Given the description of an element on the screen output the (x, y) to click on. 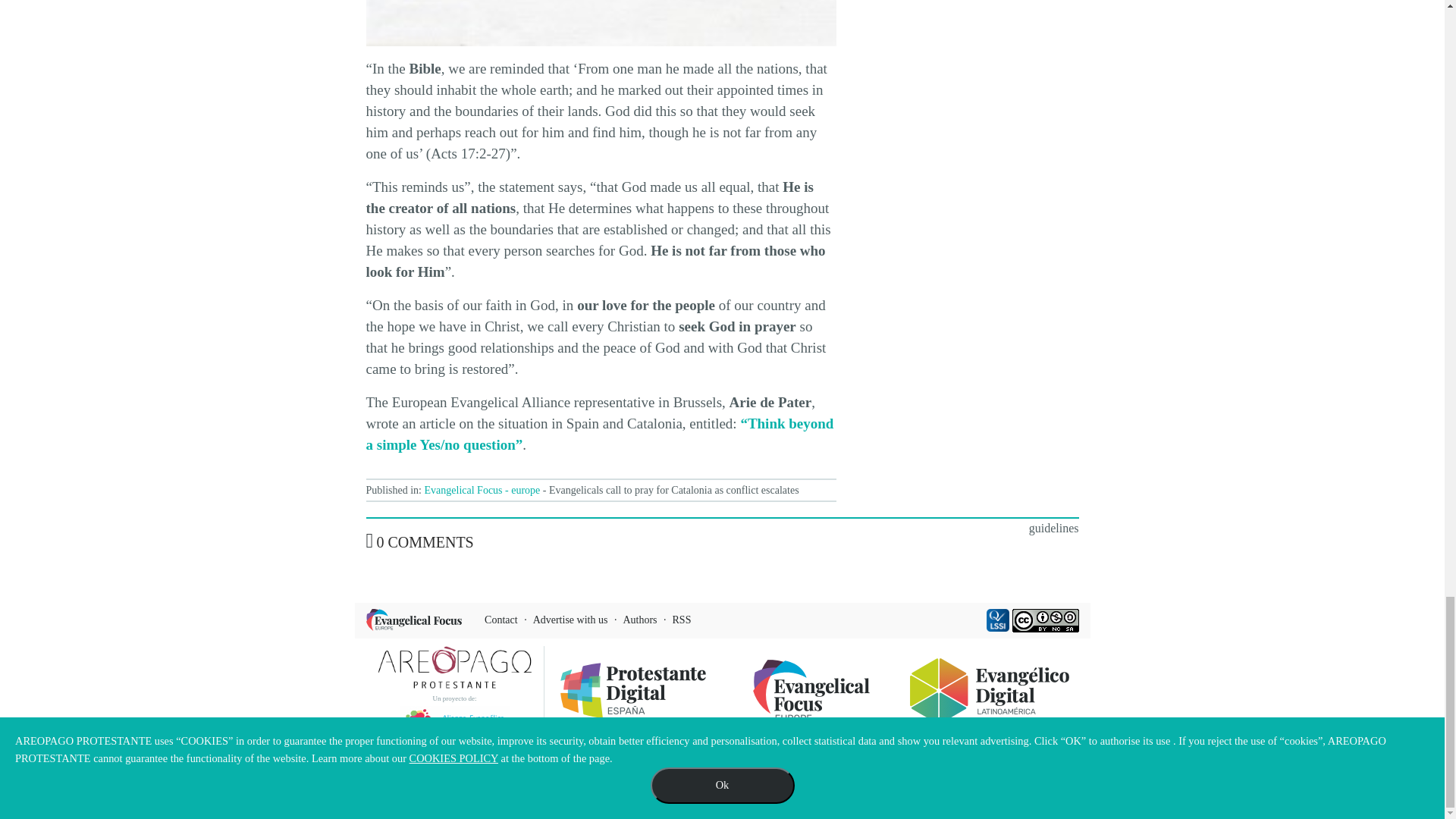
Spanish Evangelical Alliance. (600, 22)
